Given the description of an element on the screen output the (x, y) to click on. 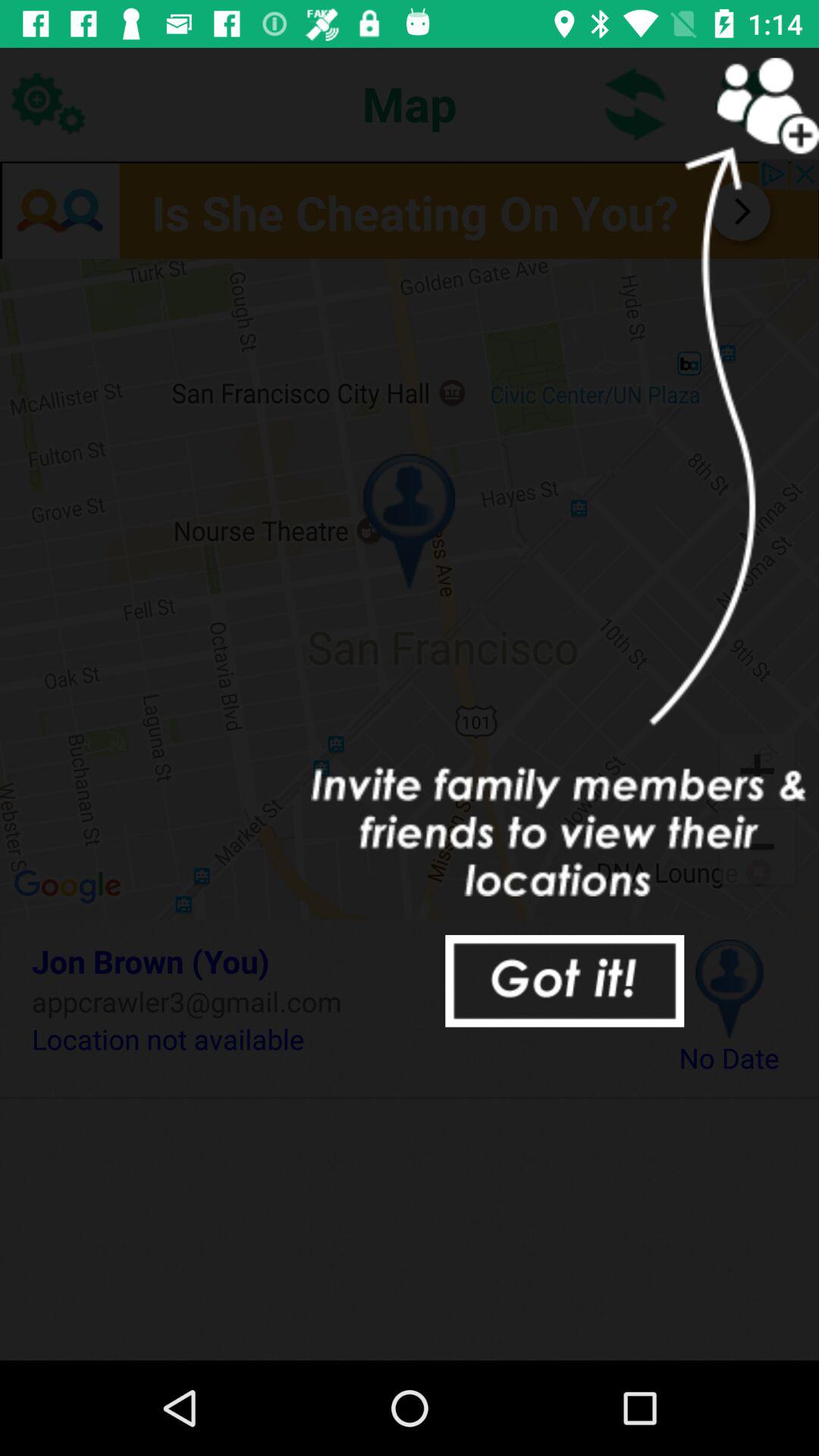
turn on the icon above location not available item (332, 1001)
